Given the description of an element on the screen output the (x, y) to click on. 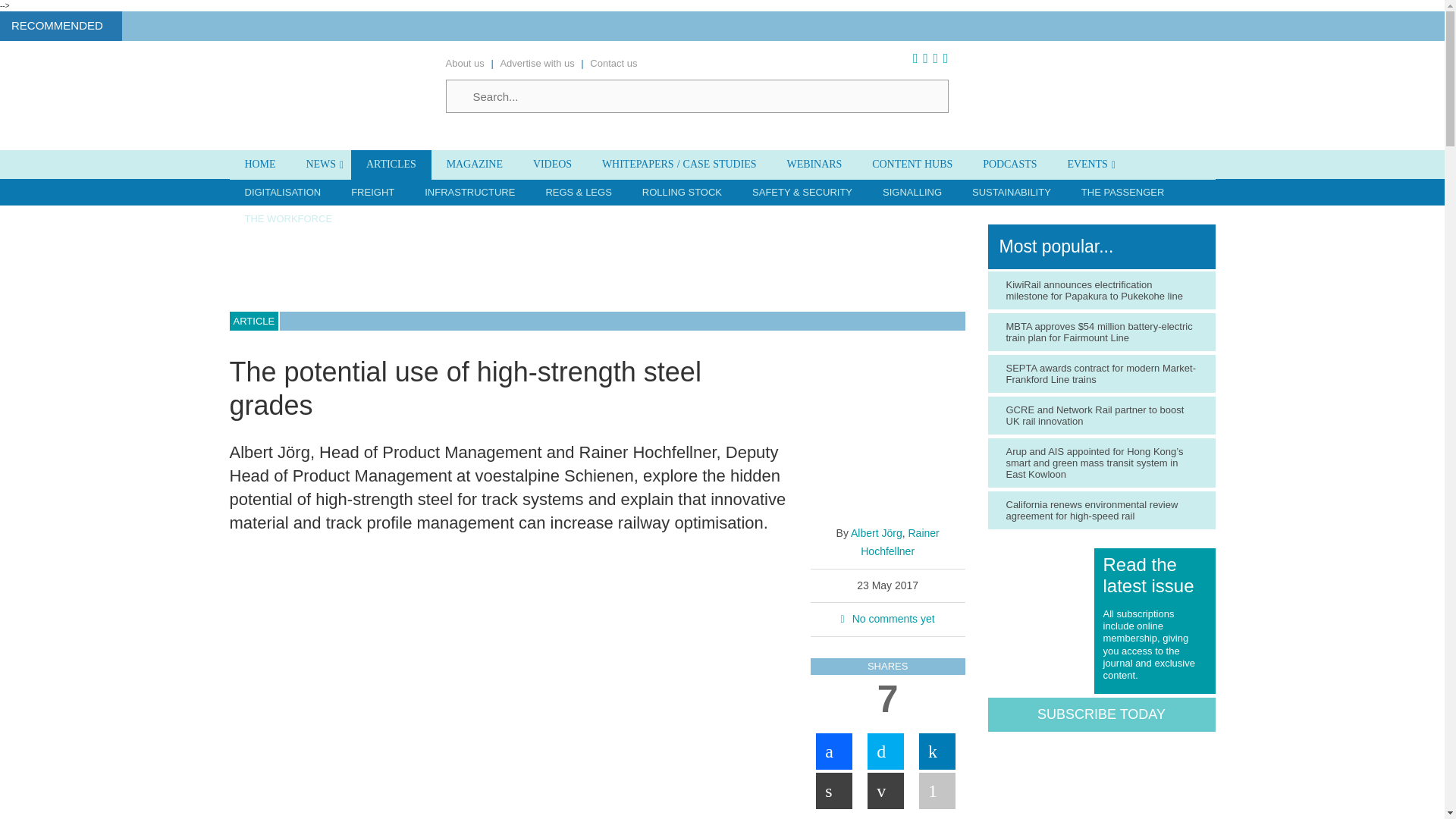
HOME (258, 164)
About us (464, 62)
Advertise with us (536, 62)
Search (697, 96)
NEWS (320, 164)
Contact us (613, 62)
